Given the description of an element on the screen output the (x, y) to click on. 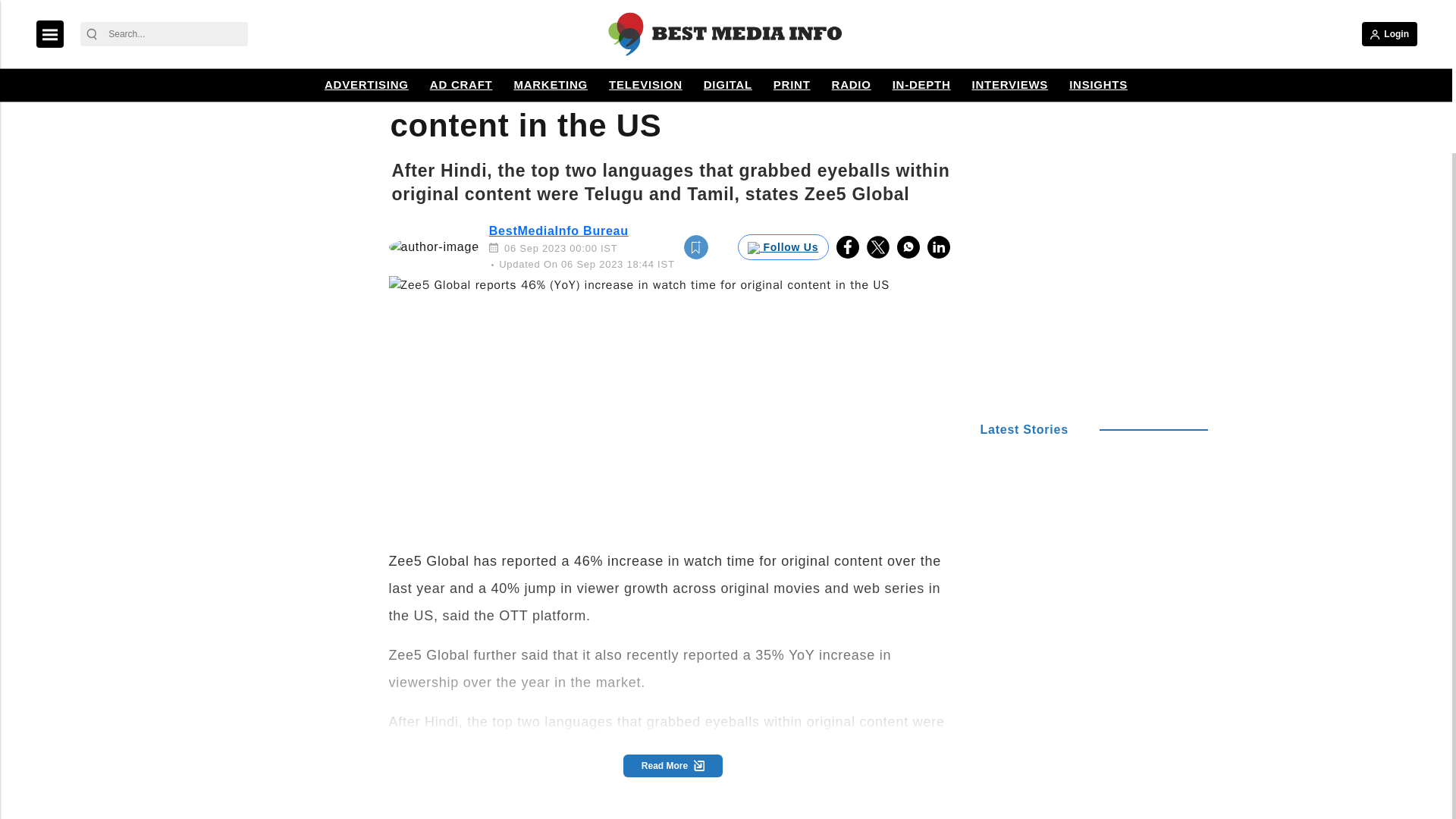
OTT (413, 6)
Follow Us (782, 247)
BestMediaInfo Bureau (558, 230)
